Given the description of an element on the screen output the (x, y) to click on. 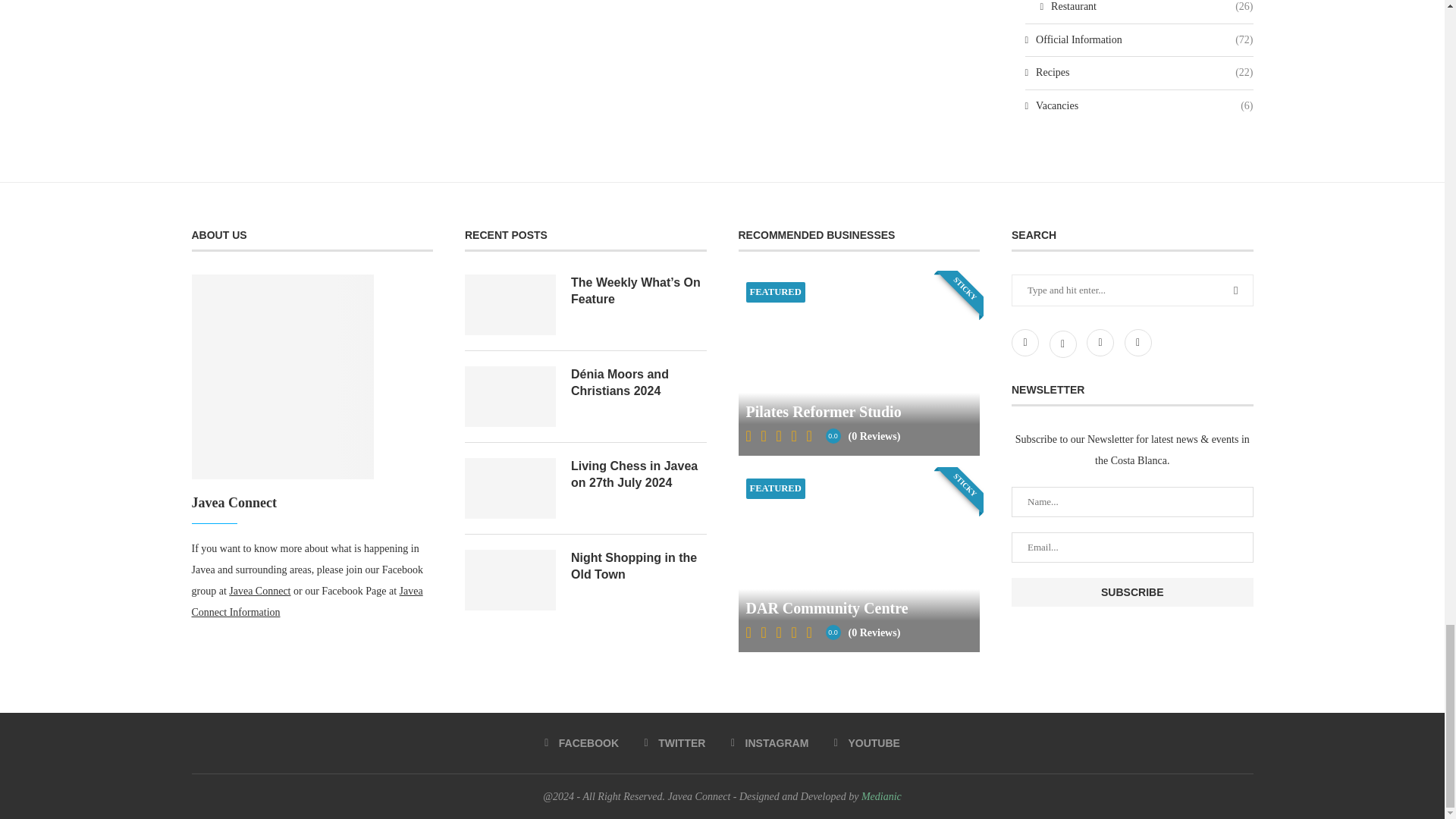
Subscribe (1132, 592)
